Given the description of an element on the screen output the (x, y) to click on. 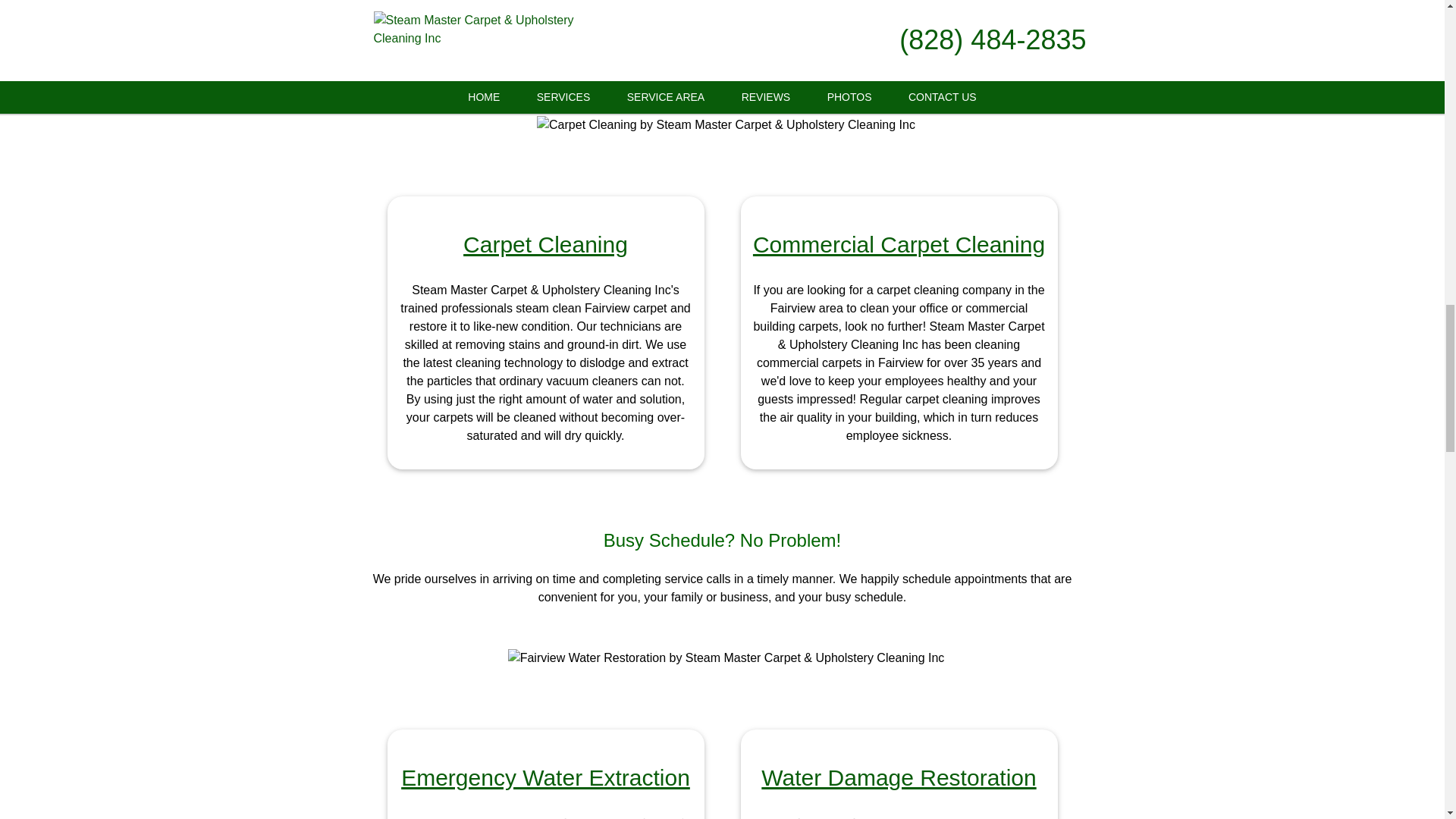
Commercial Carpet Cleaning (898, 244)
Emergency Water Extraction (545, 777)
Carpet Cleaning (545, 244)
Water Damage Restoration (898, 777)
